Given the description of an element on the screen output the (x, y) to click on. 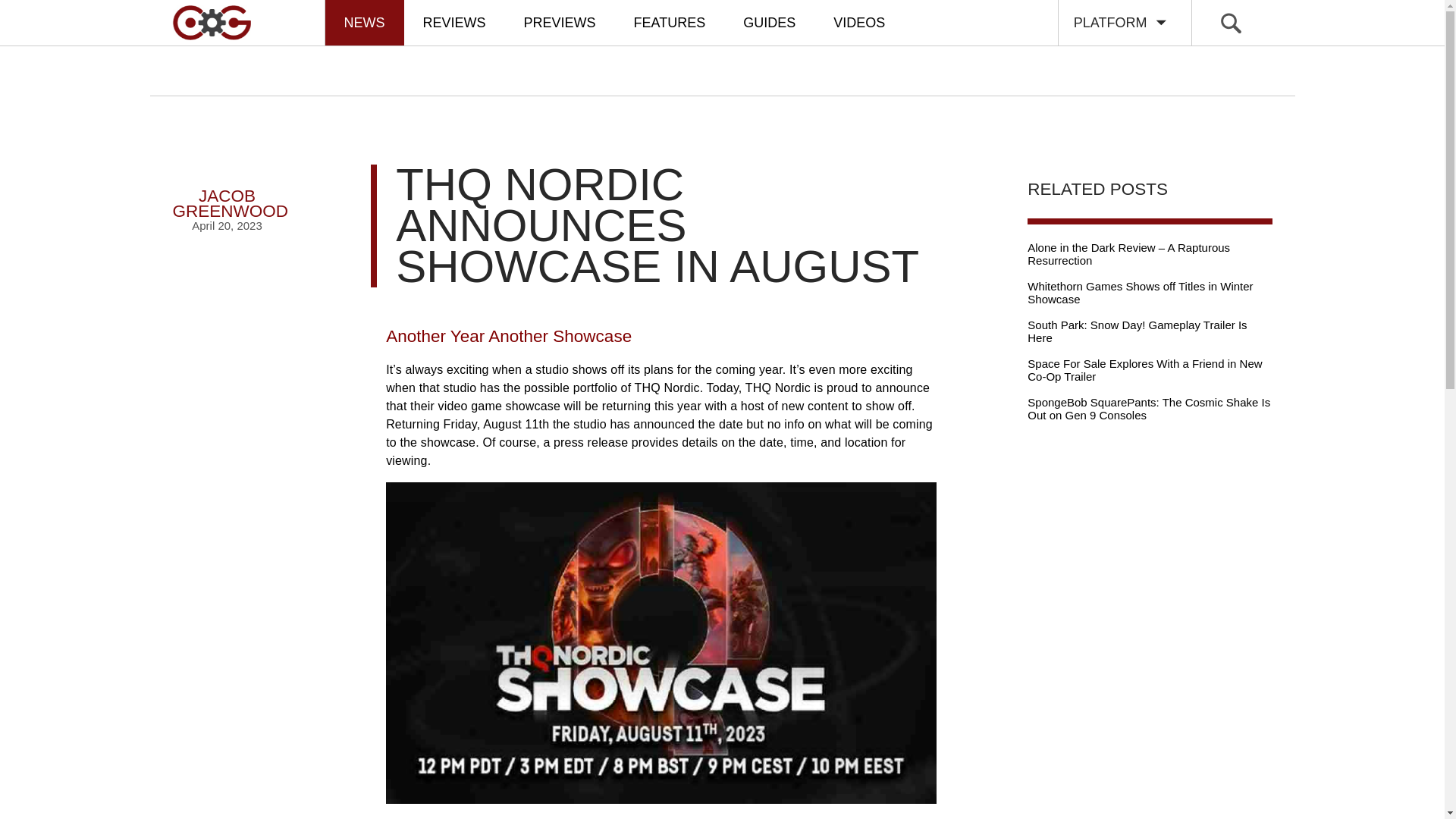
PLATFORM   (227, 189)
